Given the description of an element on the screen output the (x, y) to click on. 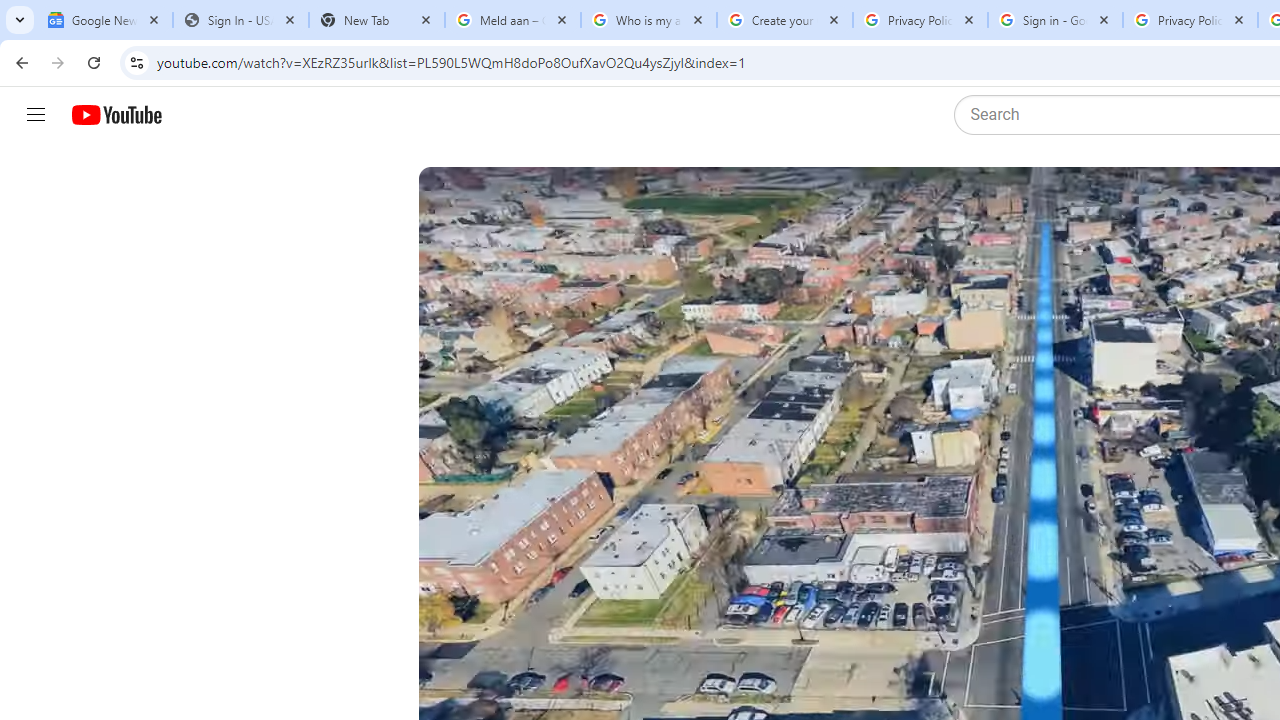
Who is my administrator? - Google Account Help (648, 20)
New Tab (376, 20)
Google News (104, 20)
Sign in - Google Accounts (1055, 20)
Sign In - USA TODAY (240, 20)
